Given the description of an element on the screen output the (x, y) to click on. 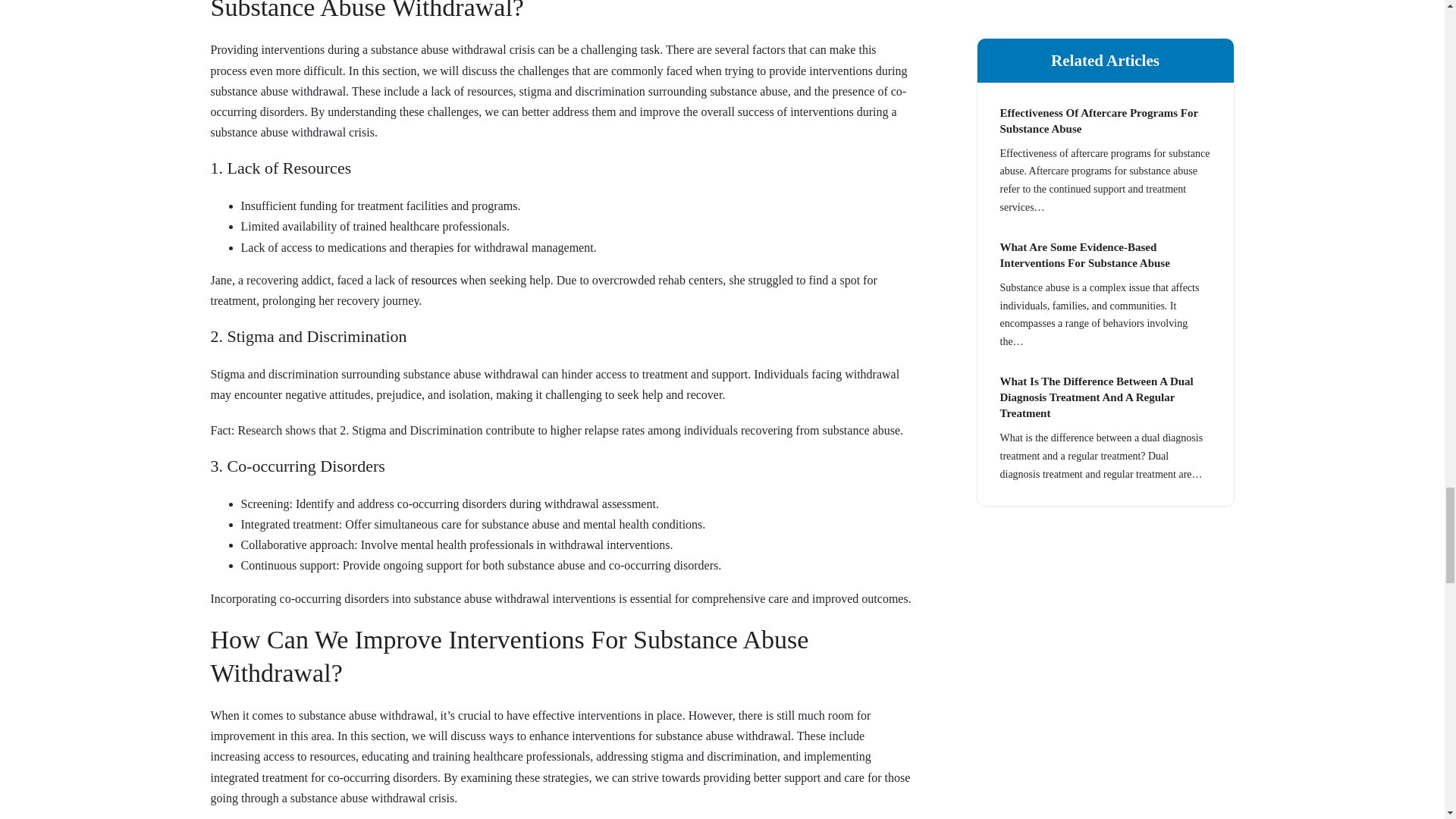
resources (433, 279)
